Given the description of an element on the screen output the (x, y) to click on. 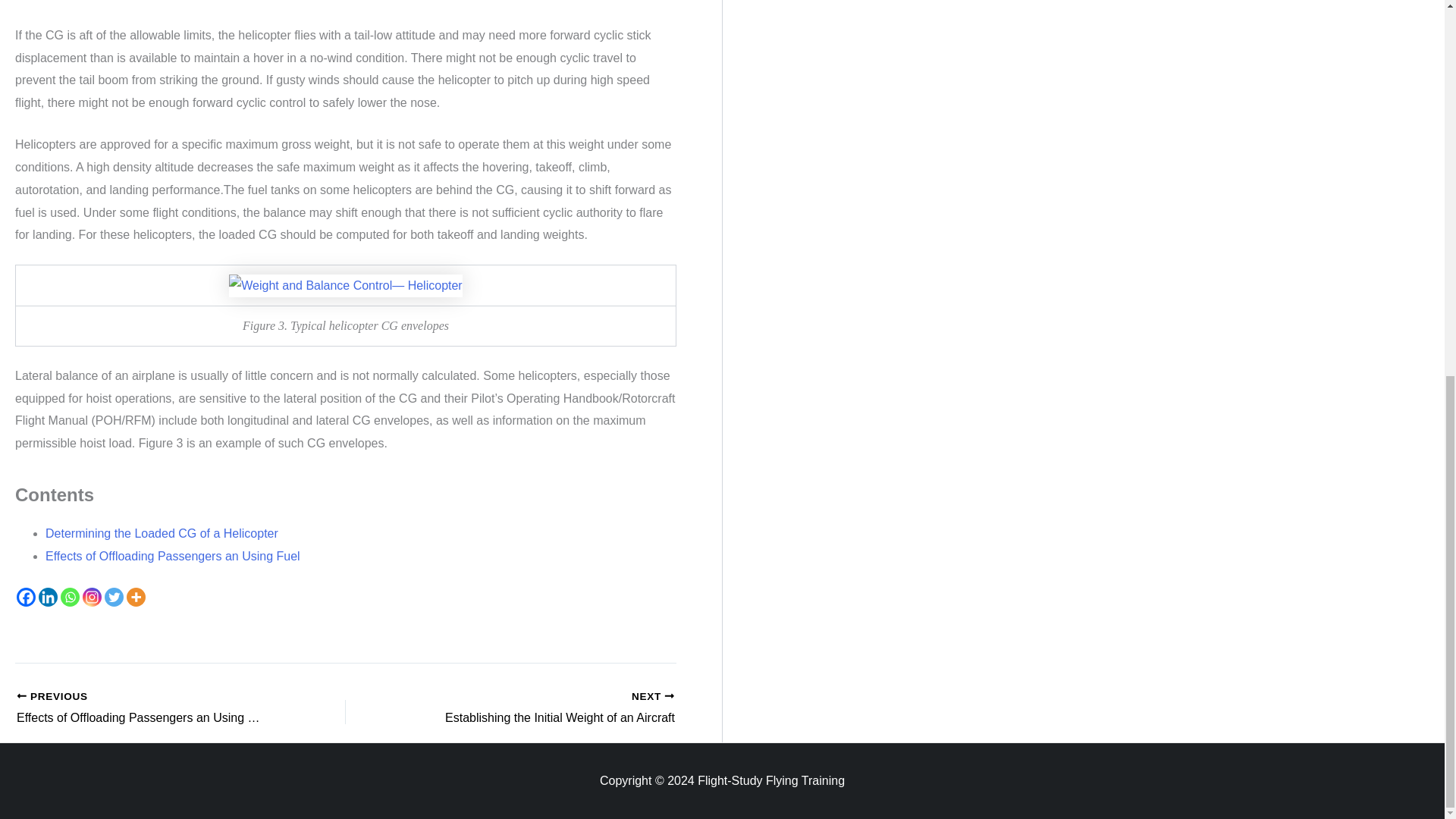
Effects of Offloading Passengers an Using Fuel (172, 555)
Determining the Loaded CG of a Helicopter (161, 533)
Effects of Offloading Passengers an Using Fuel (148, 708)
Instagram (148, 708)
Linkedin (91, 597)
More (542, 708)
Whatsapp (48, 597)
Establishing the Initial Weight of an Aircraft (135, 597)
